Given the description of an element on the screen output the (x, y) to click on. 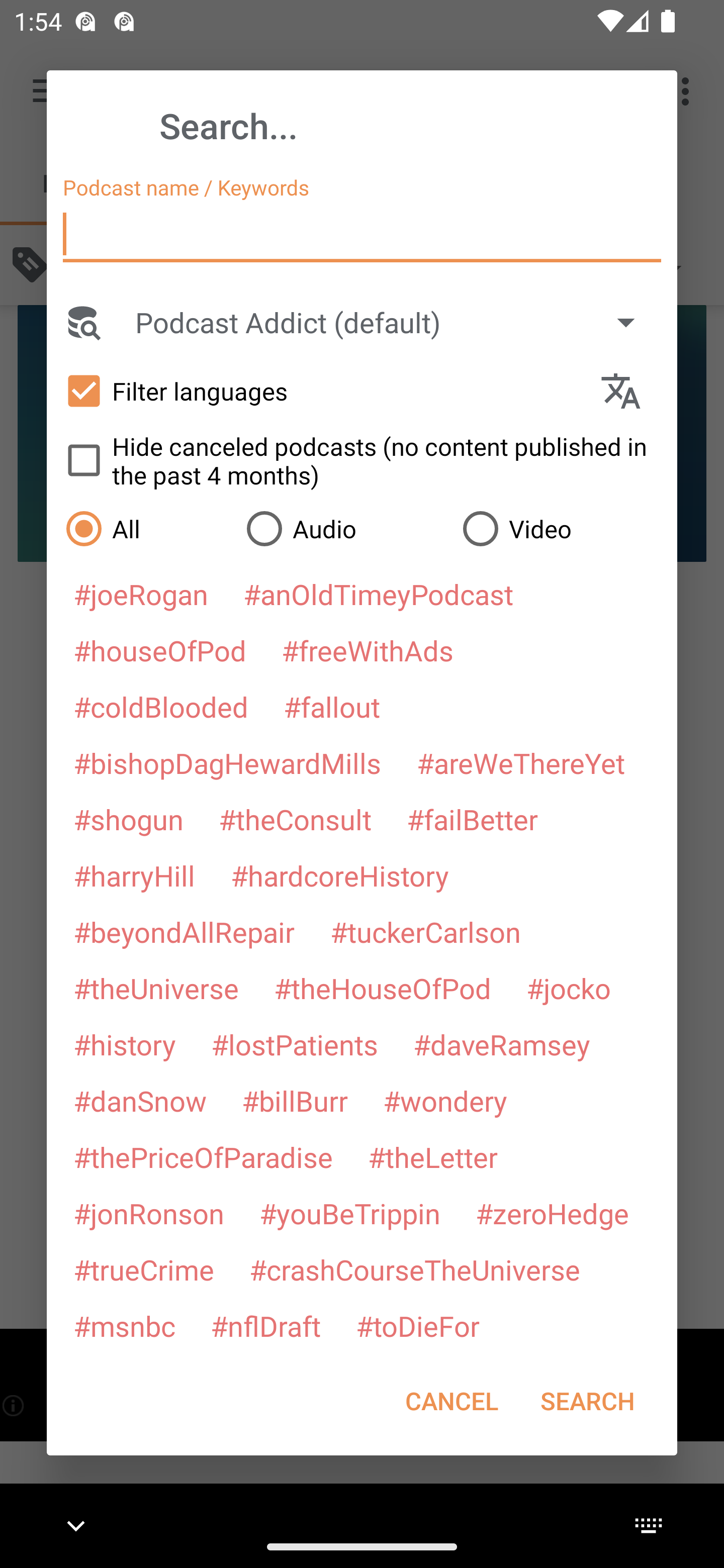
Podcast name / Keywords (361, 234)
Search Engine (82, 322)
Podcast Addict (default) (394, 322)
Languages selection (629, 390)
Filter languages (322, 390)
All (145, 528)
Audio (344, 528)
Video (560, 528)
#joeRogan (140, 594)
#anOldTimeyPodcast (378, 594)
#houseOfPod (159, 650)
#freeWithAds (367, 650)
#coldBlooded (160, 705)
#fallout (331, 705)
#bishopDagHewardMills (227, 762)
#areWeThereYet (521, 762)
#shogun (128, 818)
#theConsult (294, 818)
#failBetter (471, 818)
#harryHill (134, 875)
#hardcoreHistory (339, 875)
#beyondAllRepair (184, 931)
#tuckerCarlson (425, 931)
#theUniverse (155, 987)
#theHouseOfPod (381, 987)
#jocko (568, 987)
#history (124, 1044)
#lostPatients (294, 1044)
#daveRamsey (501, 1044)
#danSnow (139, 1100)
#billBurr (294, 1100)
#wondery (444, 1100)
#thePriceOfParadise (203, 1157)
#theLetter (432, 1157)
#jonRonson (148, 1213)
#youBeTrippin (349, 1213)
#zeroHedge (552, 1213)
#trueCrime (143, 1268)
#crashCourseTheUniverse (414, 1268)
#msnbc (124, 1325)
#nflDraft (265, 1325)
#toDieFor (417, 1325)
CANCEL (451, 1400)
SEARCH (587, 1400)
